Given the description of an element on the screen output the (x, y) to click on. 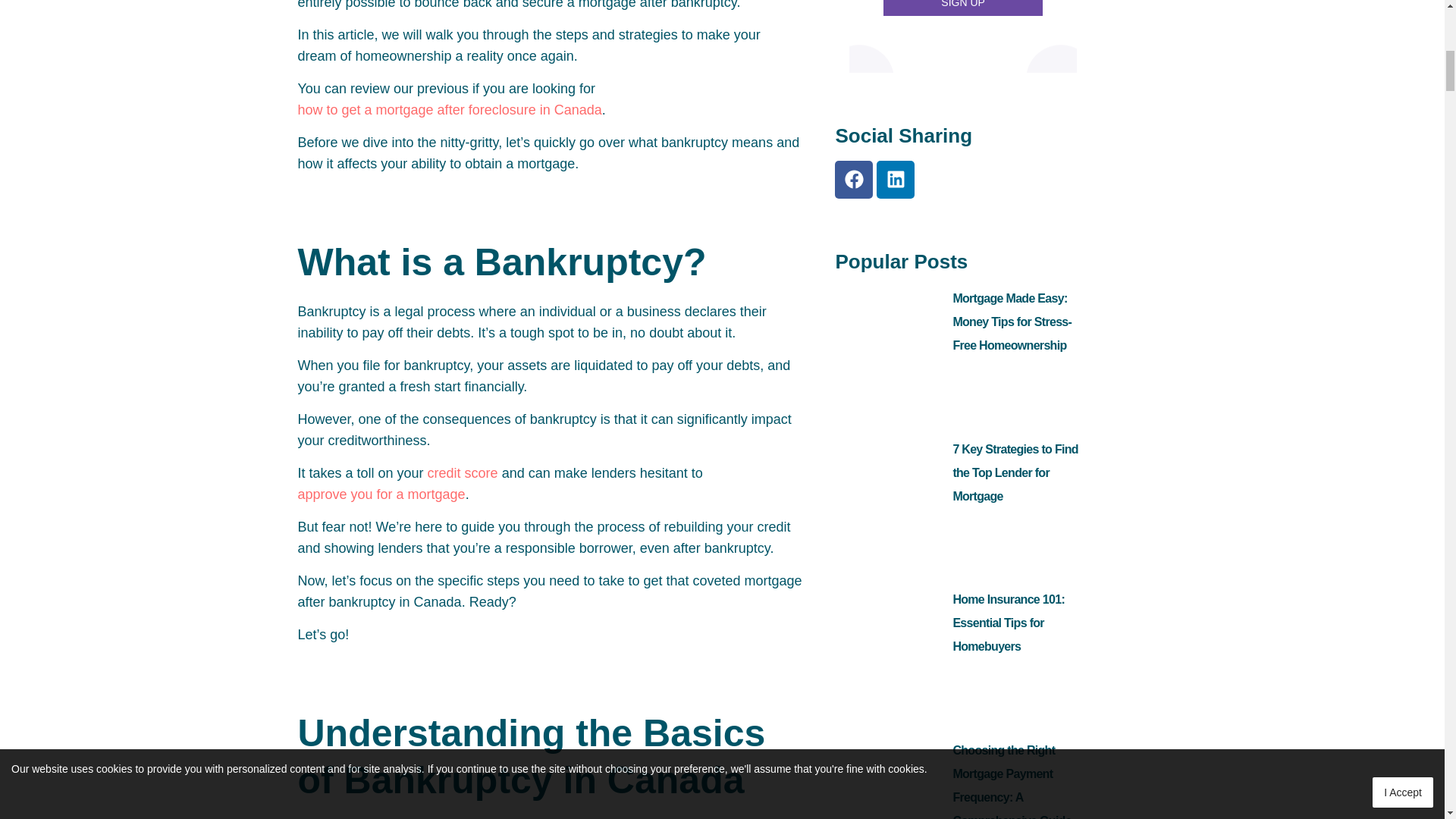
SIGN UP (962, 7)
